Given the description of an element on the screen output the (x, y) to click on. 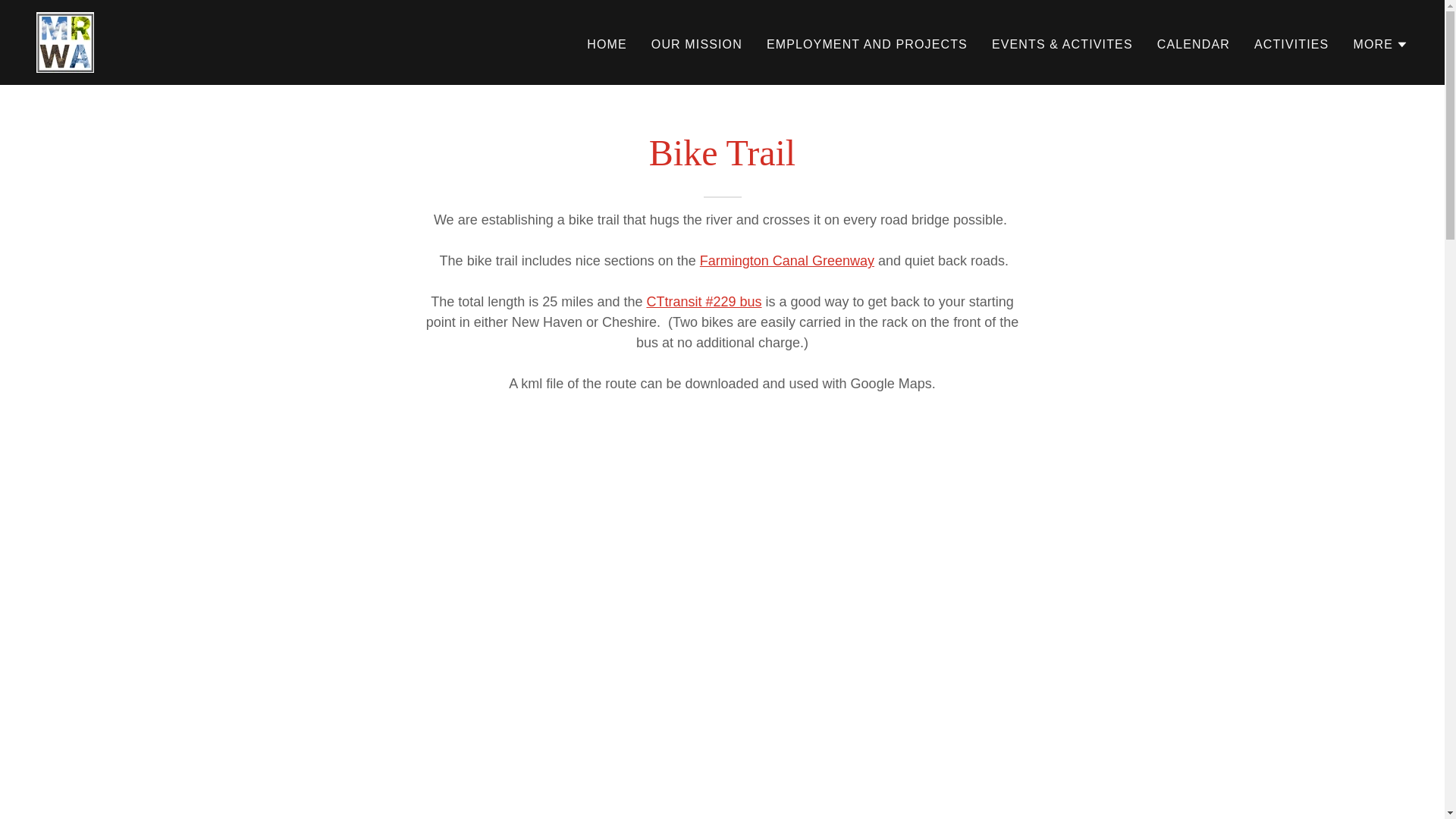
ACTIVITIES (1291, 43)
HOME (606, 43)
Mill River Watershed Association of South Central CT (65, 41)
CALENDAR (1193, 43)
MORE (1379, 44)
EMPLOYMENT AND PROJECTS (866, 43)
OUR MISSION (696, 43)
